Given the description of an element on the screen output the (x, y) to click on. 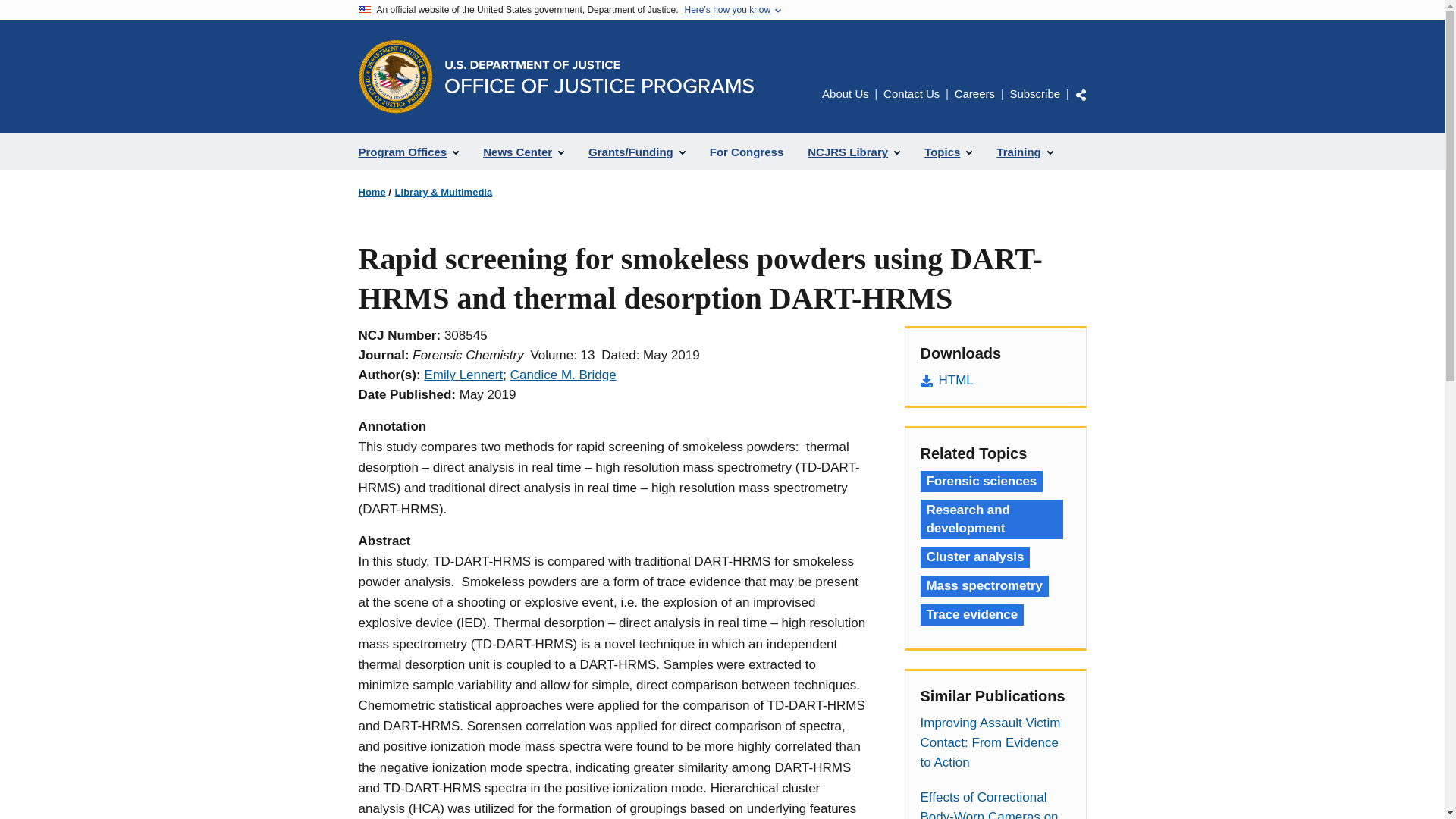
Forensic sciences (981, 481)
NCJRS Library (853, 151)
Program Offices (408, 151)
Candice M. Bridge (563, 374)
Mass spectrometry (984, 586)
HTML (995, 380)
Share (1080, 94)
Emily Lennert (462, 374)
Office of Justice Programs (395, 76)
News Center (523, 151)
Home (371, 192)
Topics (948, 151)
Improving Assault Victim Contact: From Evidence to Action (995, 743)
